Given the description of an element on the screen output the (x, y) to click on. 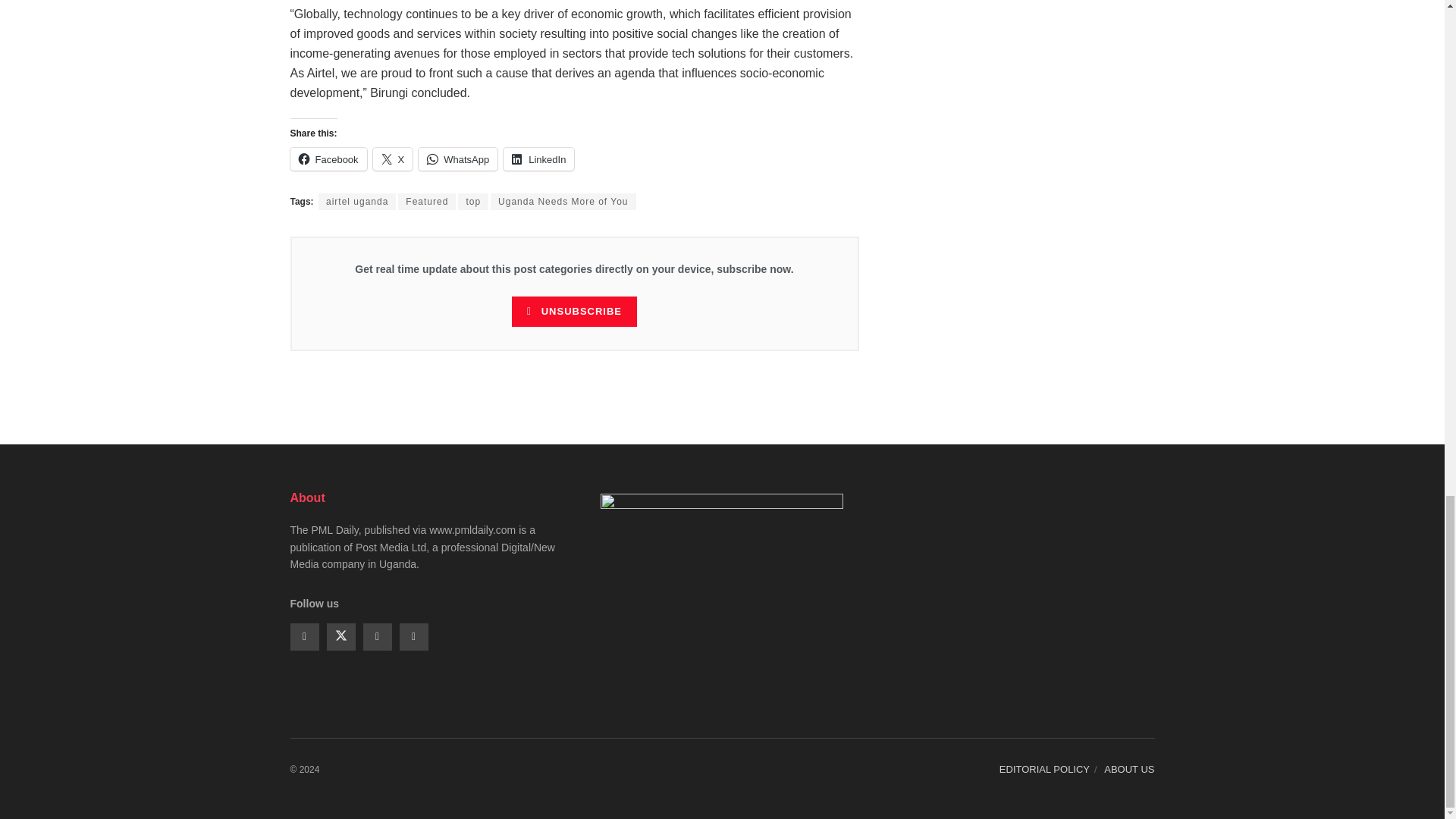
Click to share on WhatsApp (458, 159)
Click to share on Facebook (327, 159)
Click to share on X (392, 159)
Click to share on LinkedIn (538, 159)
